Given the description of an element on the screen output the (x, y) to click on. 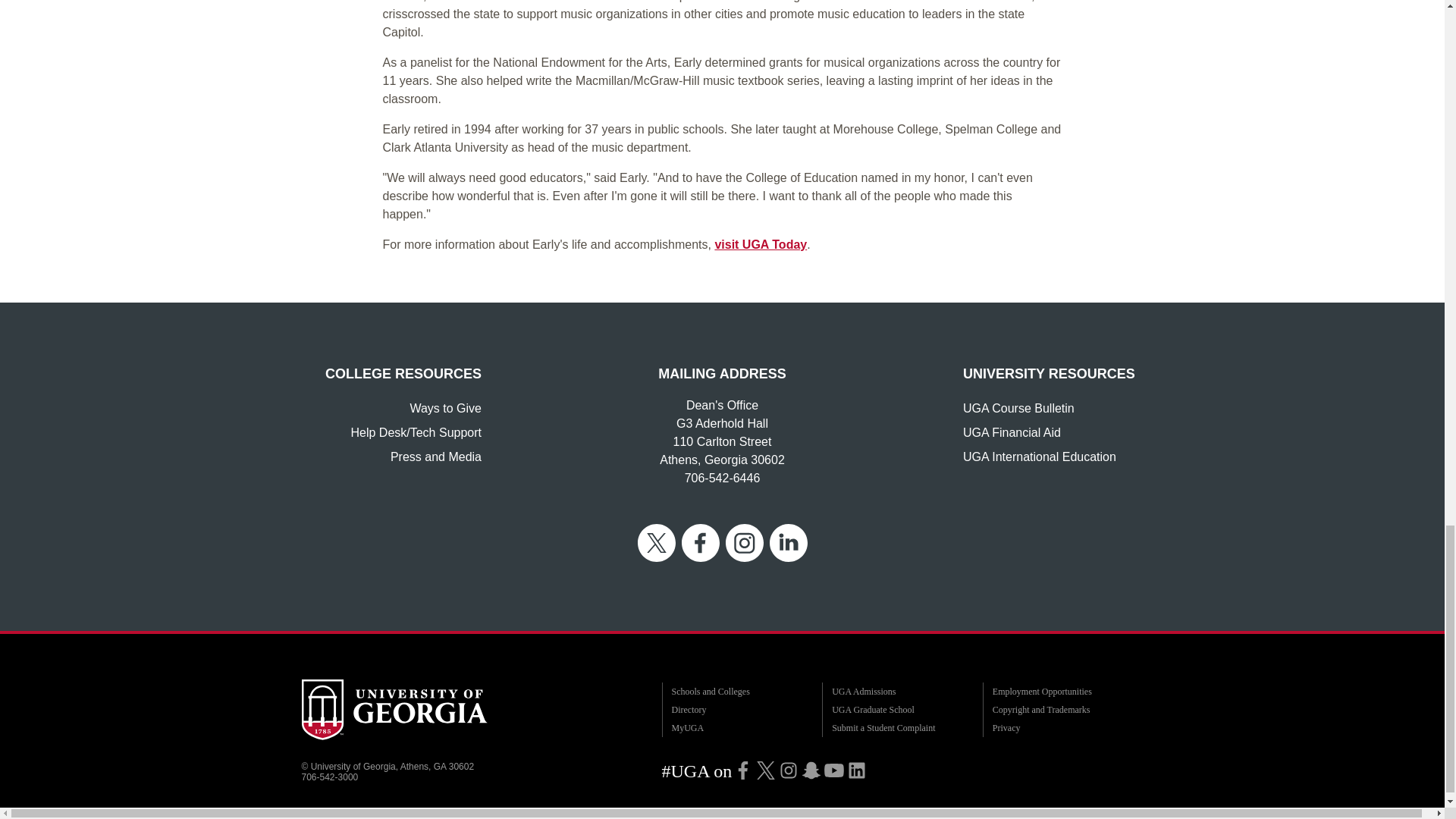
Twitter (765, 770)
LinkedIn (856, 770)
YouTube (833, 770)
Instagram (788, 770)
Facebook (743, 770)
Snapchat (810, 770)
